Given the description of an element on the screen output the (x, y) to click on. 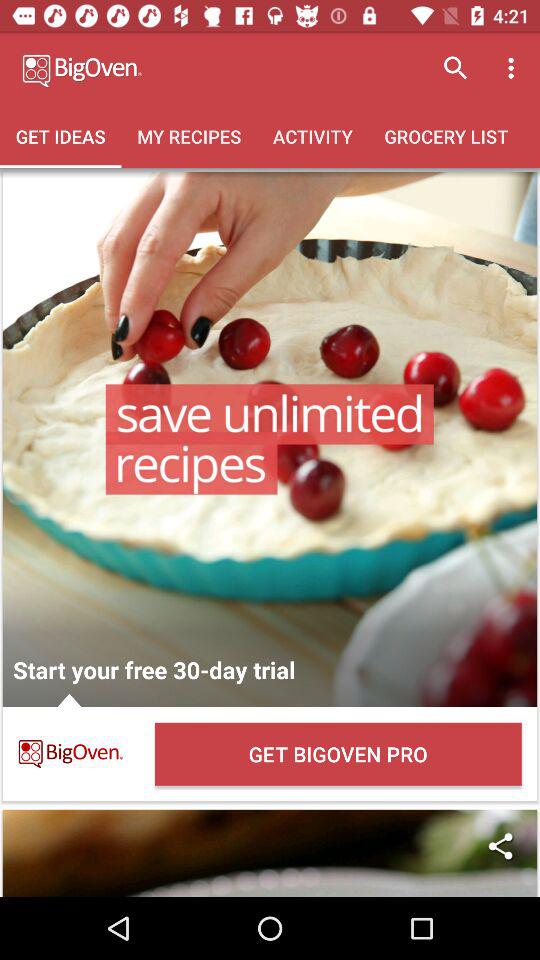
choose item at the bottom right corner (500, 846)
